Given the description of an element on the screen output the (x, y) to click on. 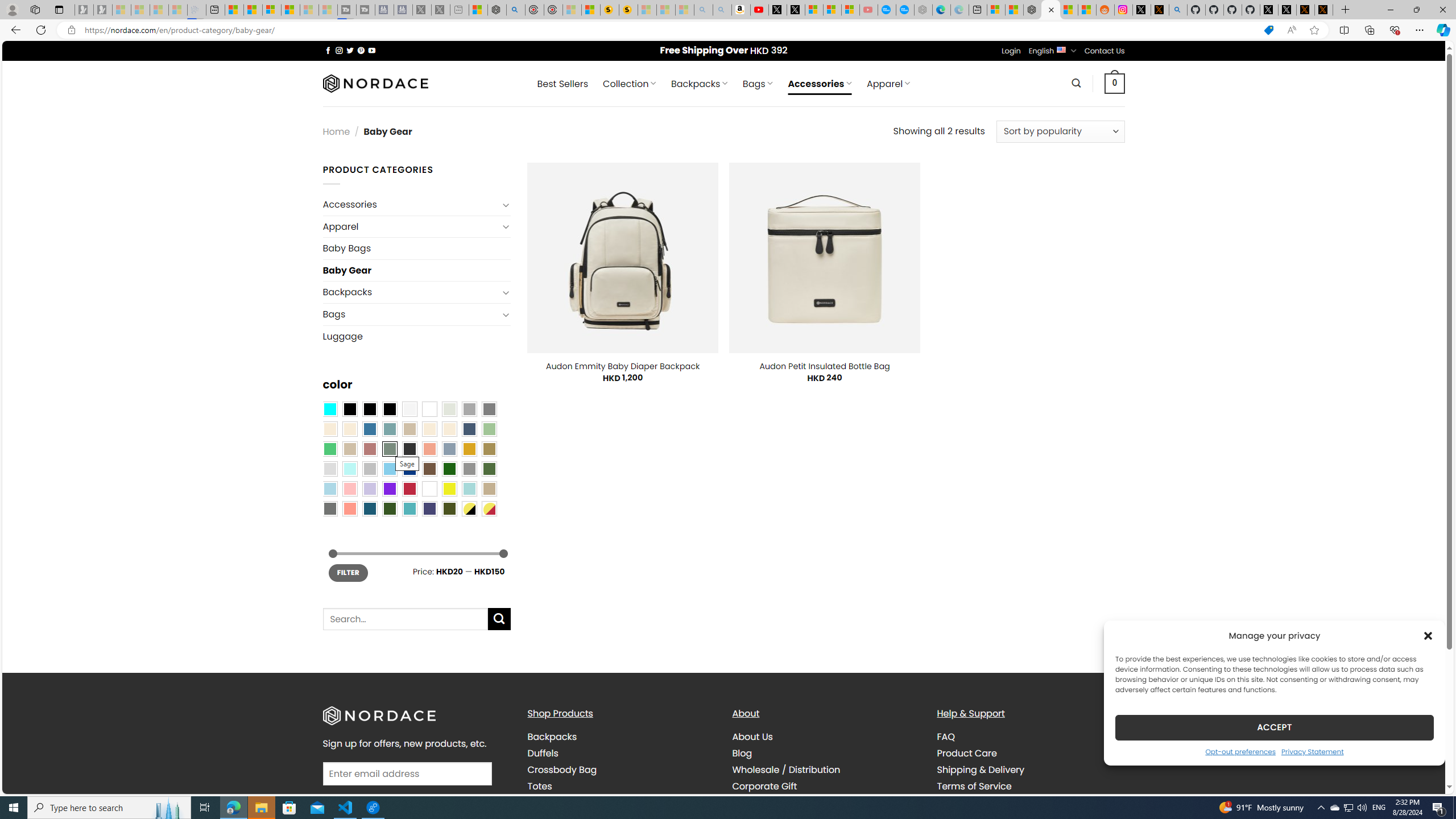
About Us (826, 737)
Product Care (1030, 753)
All Black (349, 408)
Totes (539, 785)
Amazon Echo Dot PNG - Search Images - Sleeping (721, 9)
Backpacks (551, 736)
Capri Blue (369, 508)
Yellow-Black (468, 508)
Dark Gray (468, 408)
